Given the description of an element on the screen output the (x, y) to click on. 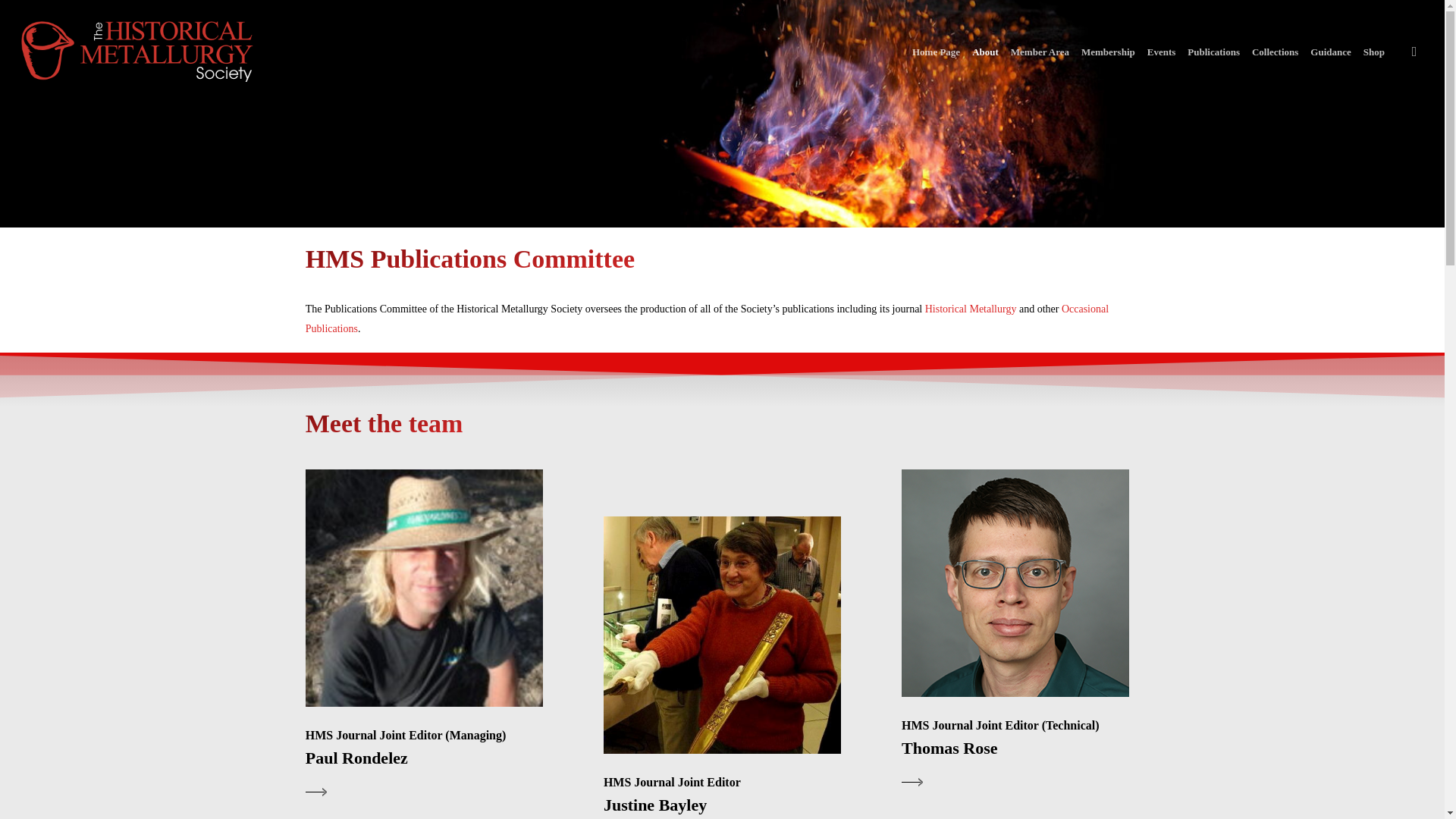
Home Page (935, 51)
About (985, 51)
Publications (1213, 51)
Collections (1275, 51)
Guidance (1330, 51)
Member Area (1039, 51)
Events (1161, 51)
Membership (1108, 51)
